Given the description of an element on the screen output the (x, y) to click on. 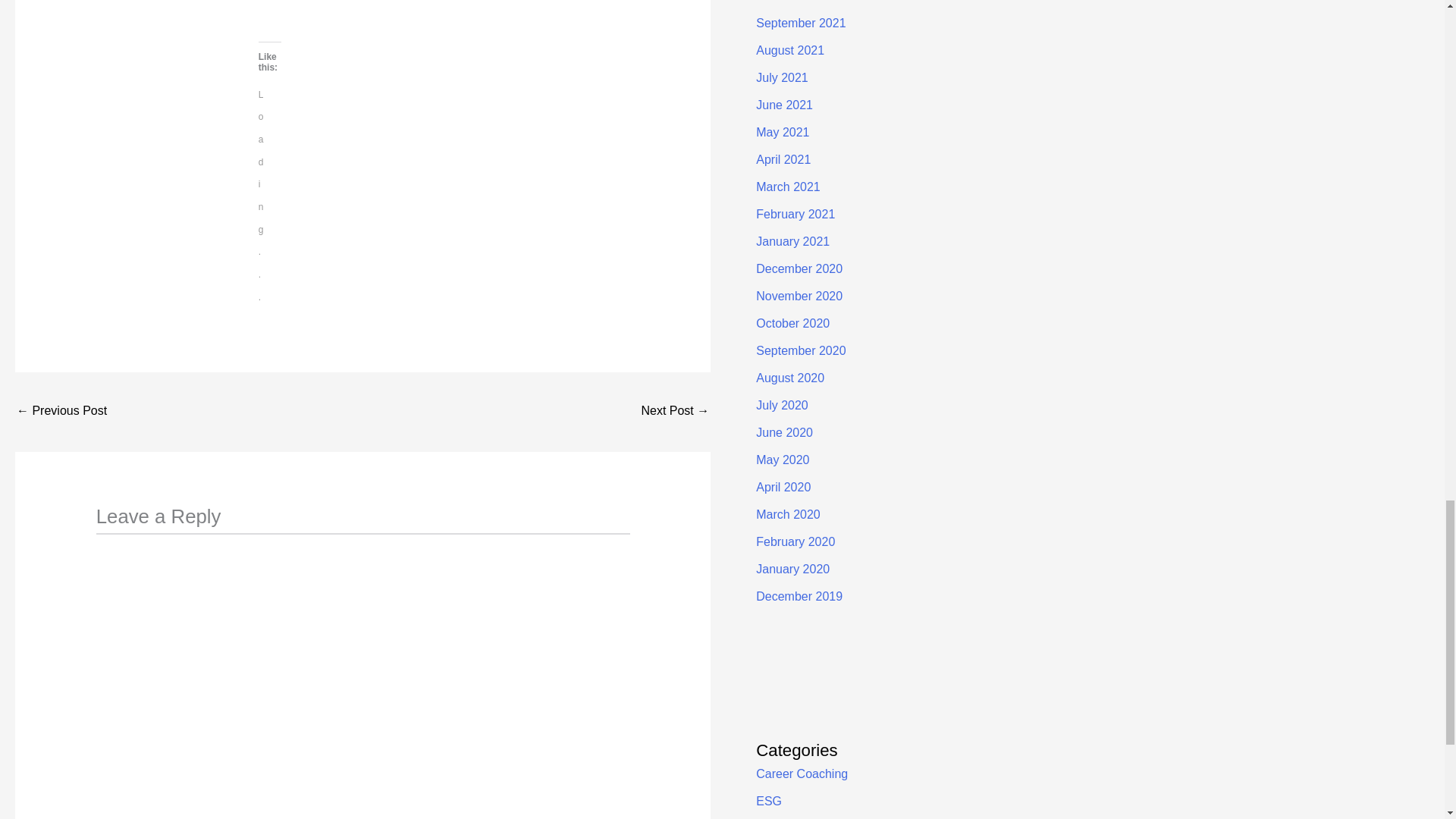
How Values Differ from Ethics and Morals (674, 411)
Shift Paradigms and Eliminate Stress (61, 411)
